Given the description of an element on the screen output the (x, y) to click on. 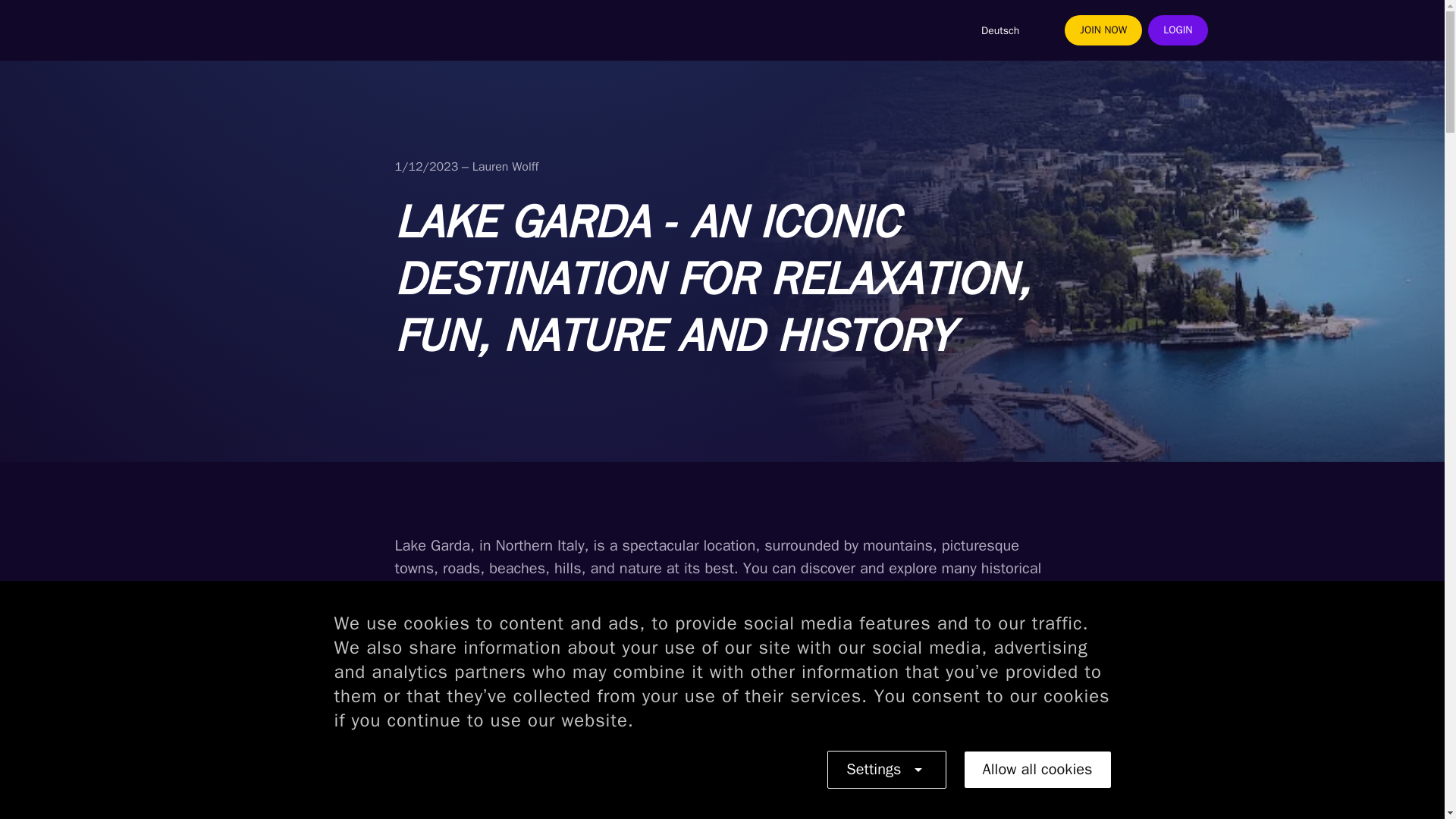
Settings (885, 769)
Allow all cookies (1036, 769)
